Given the description of an element on the screen output the (x, y) to click on. 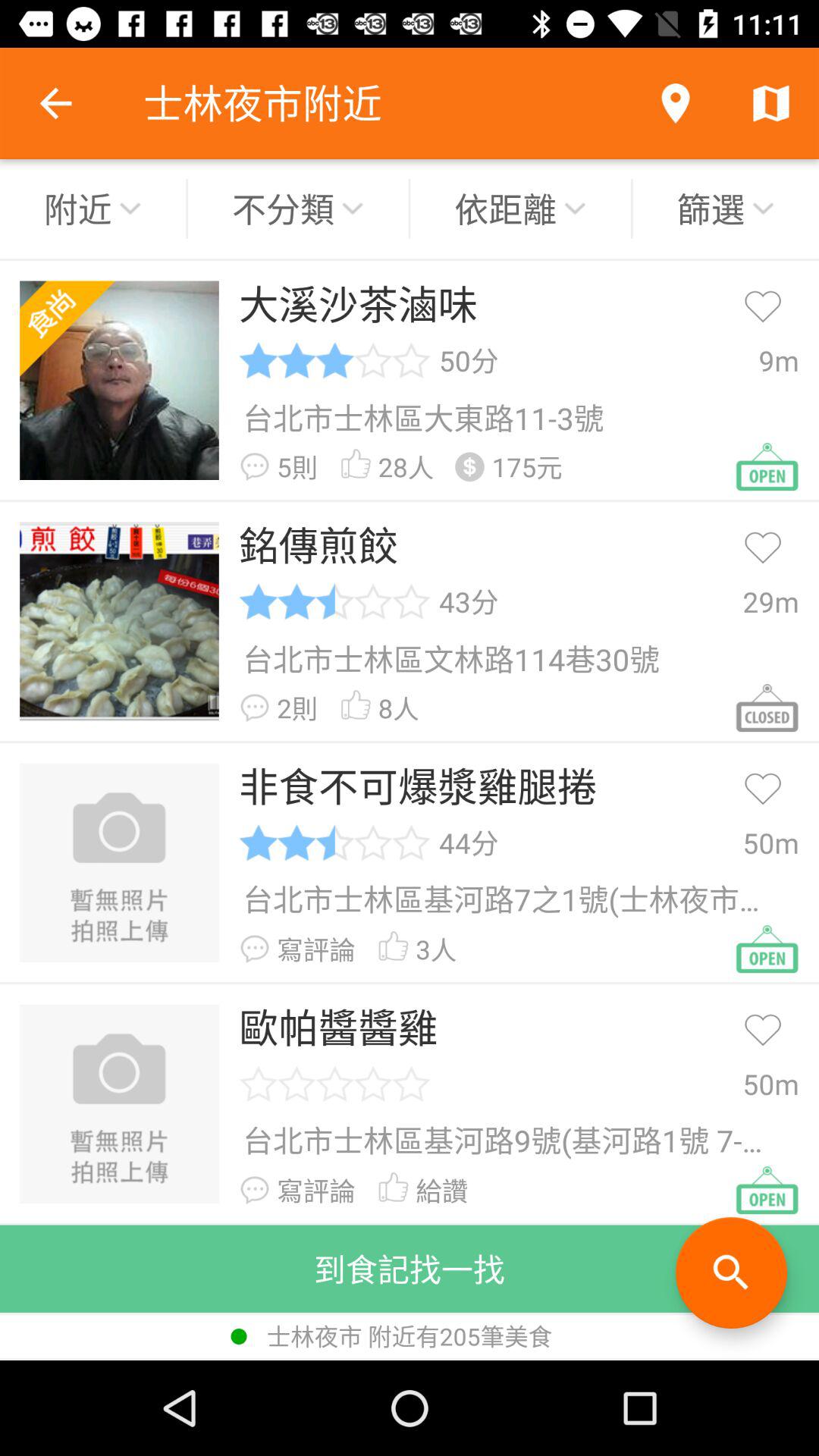
tap icon to the left of 9m (468, 360)
